Given the description of an element on the screen output the (x, y) to click on. 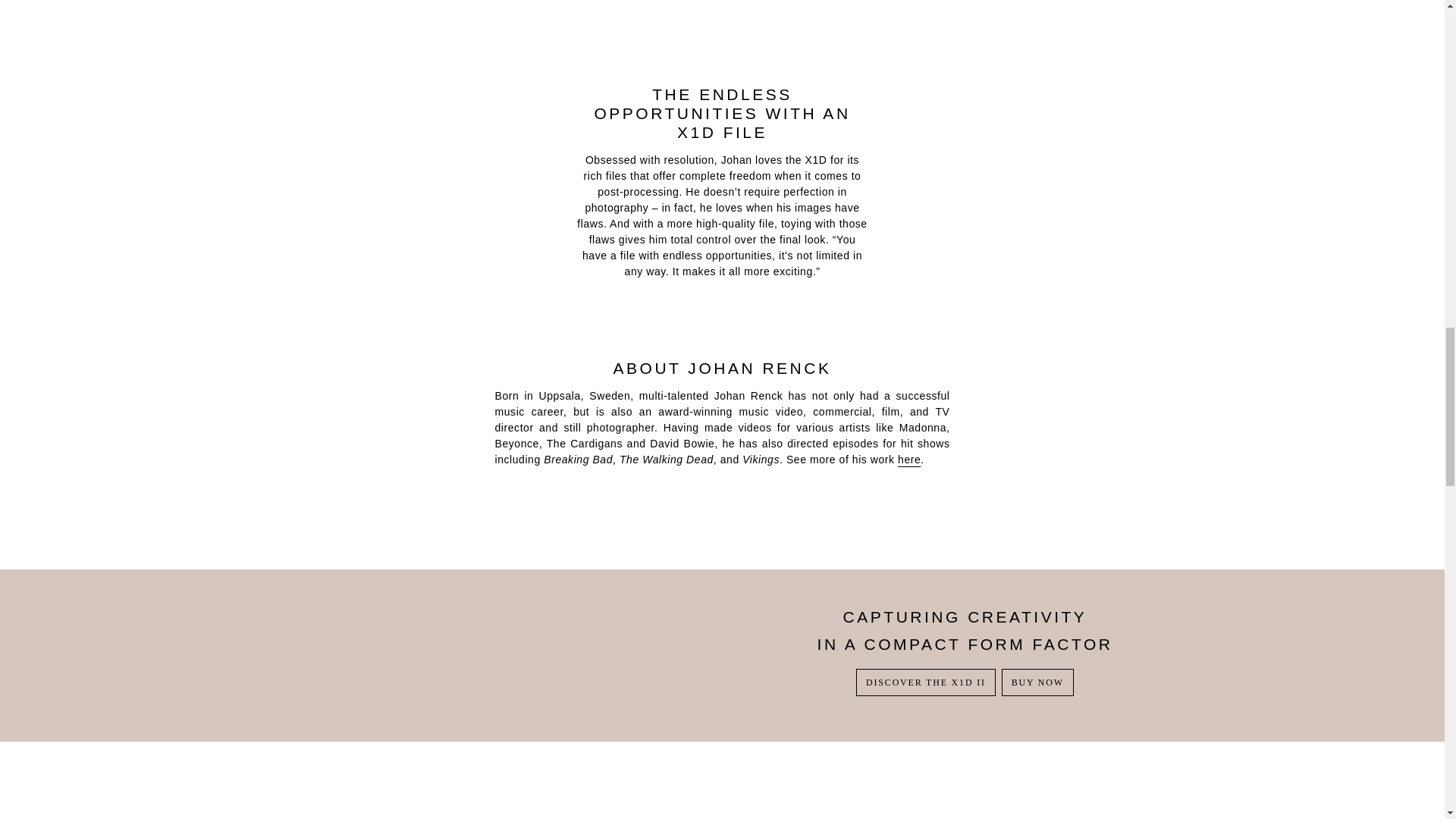
here (909, 459)
DISCOVER THE X1D II (925, 682)
BUY NOW (1037, 682)
